Given the description of an element on the screen output the (x, y) to click on. 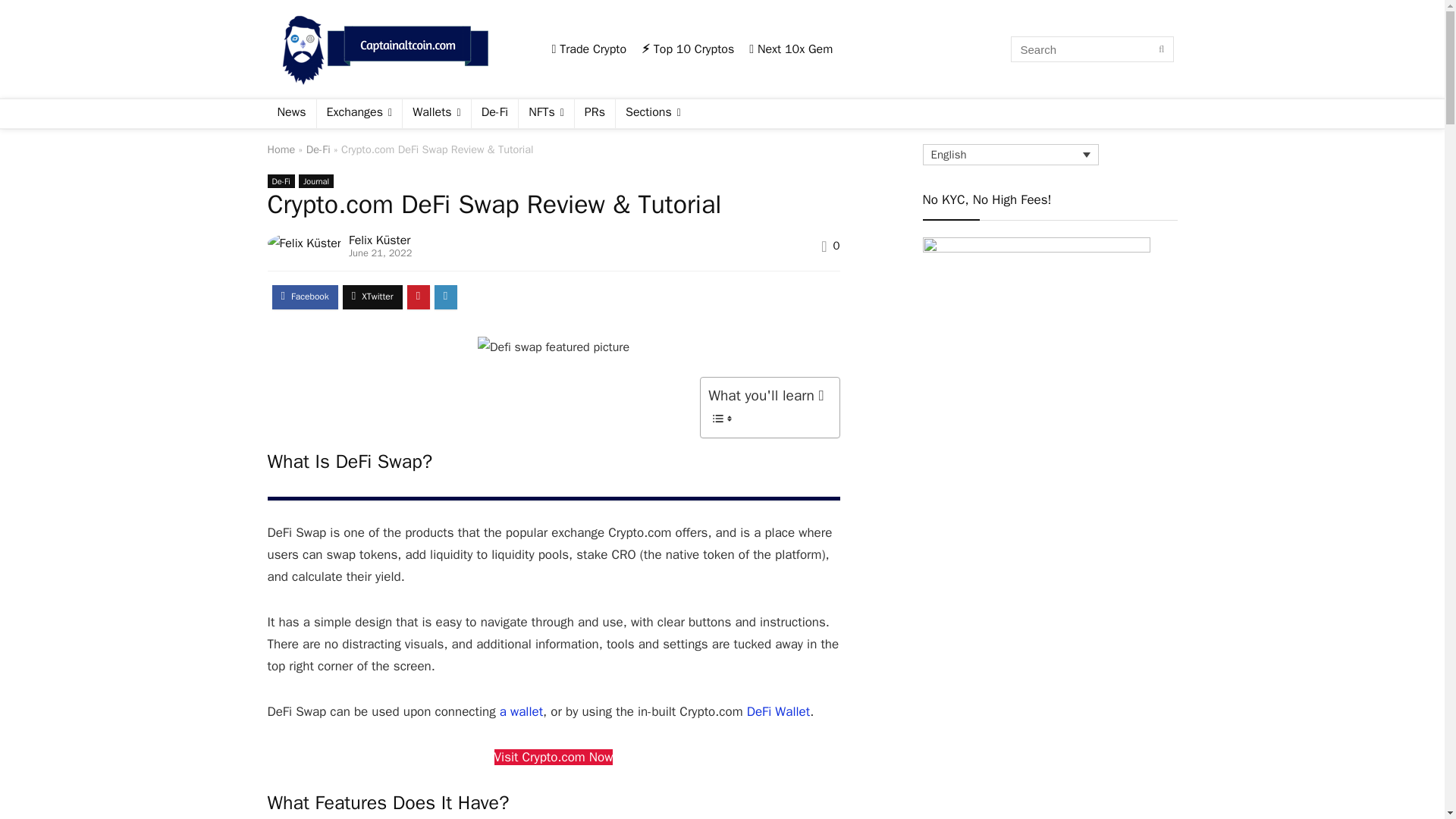
NFTs (545, 113)
View all posts in De-Fi (280, 181)
Exchanges (360, 113)
View all posts in Journal (315, 181)
News (290, 113)
Crypto.com (553, 756)
De-Fi (494, 113)
PRs (594, 113)
Wallets (436, 113)
Sections (652, 113)
